Given the description of an element on the screen output the (x, y) to click on. 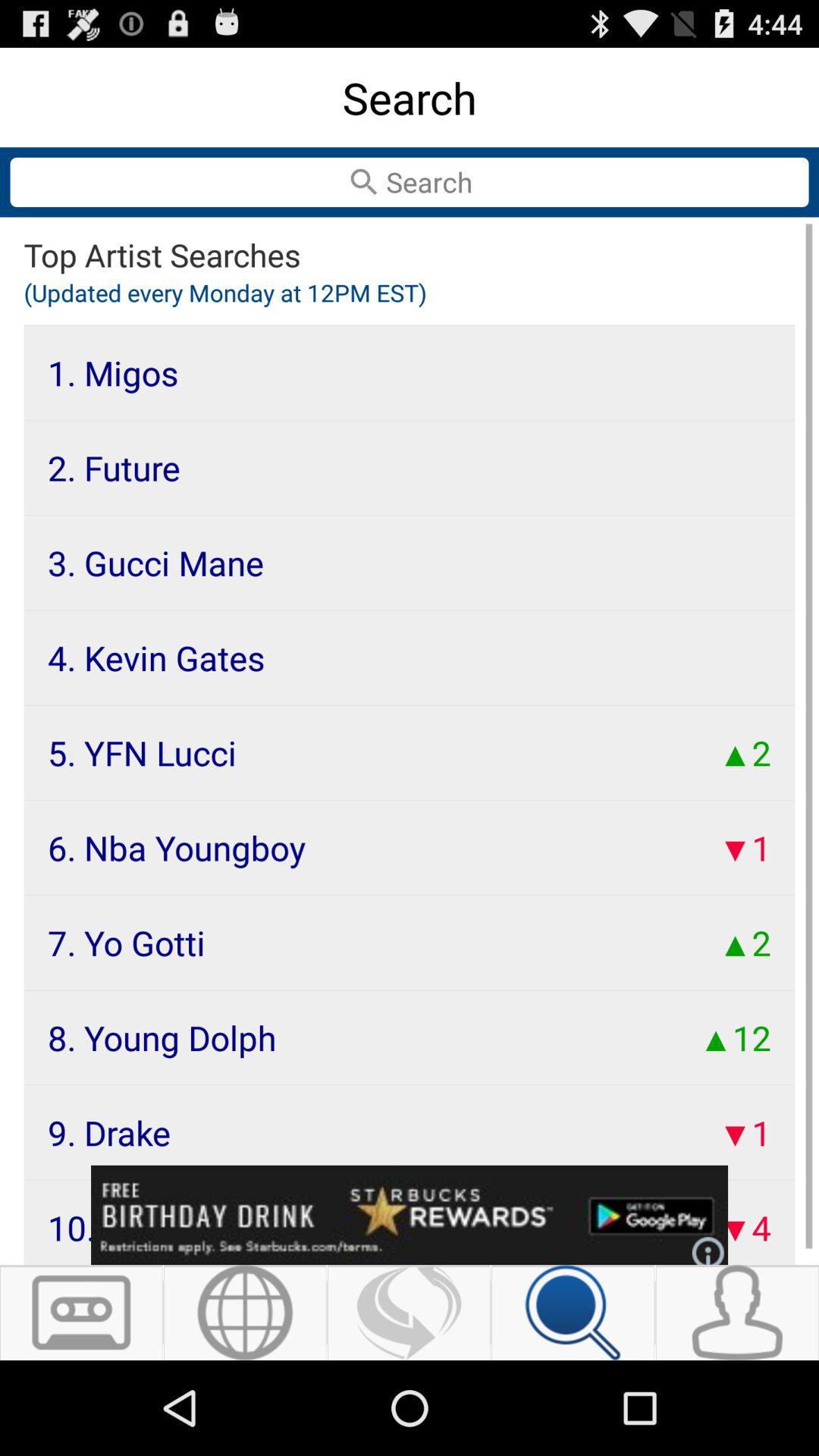
click the advertisement (409, 1214)
